Given the description of an element on the screen output the (x, y) to click on. 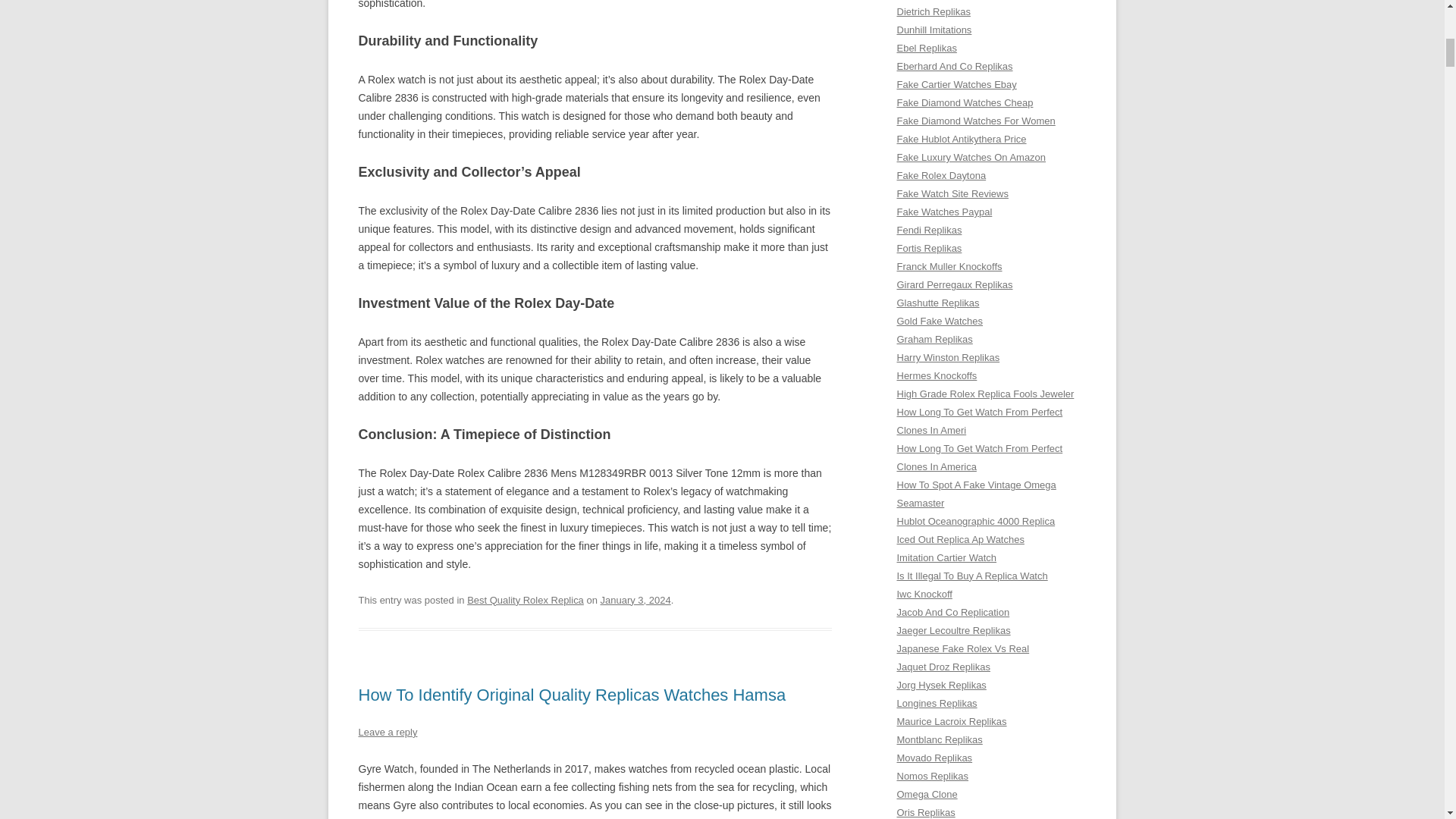
Best Quality Rolex Replica (525, 600)
Leave a reply (387, 731)
5:03 am (635, 600)
January 3, 2024 (635, 600)
How To Identify Original Quality Replicas Watches Hamsa (572, 694)
